Given the description of an element on the screen output the (x, y) to click on. 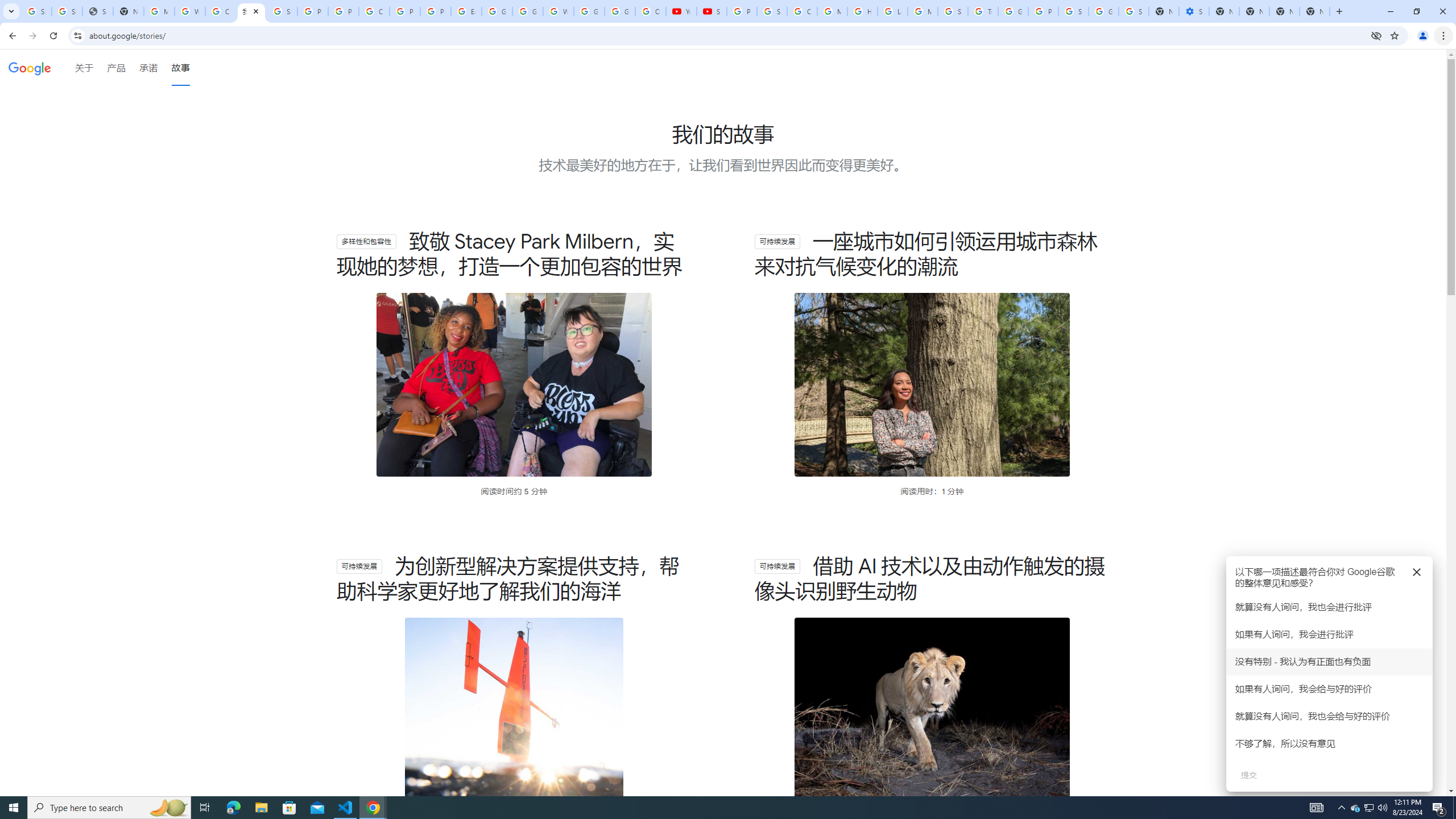
Edit and view right-to-left text - Google Docs Editors Help (465, 11)
Google Slides: Sign-in (496, 11)
Sign in - Google Accounts (36, 11)
